Given the description of an element on the screen output the (x, y) to click on. 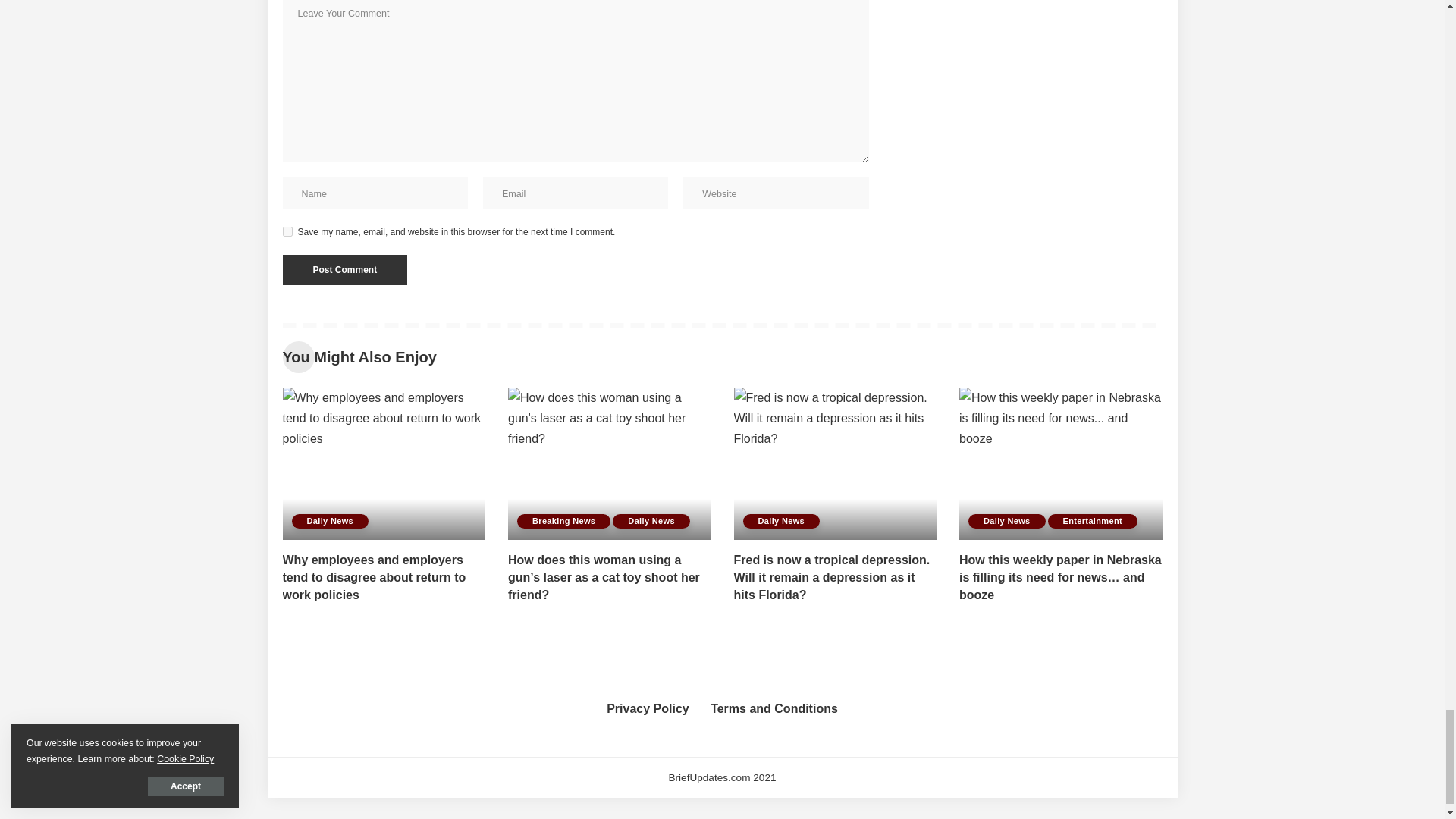
Post Comment (344, 269)
yes (287, 231)
